Given the description of an element on the screen output the (x, y) to click on. 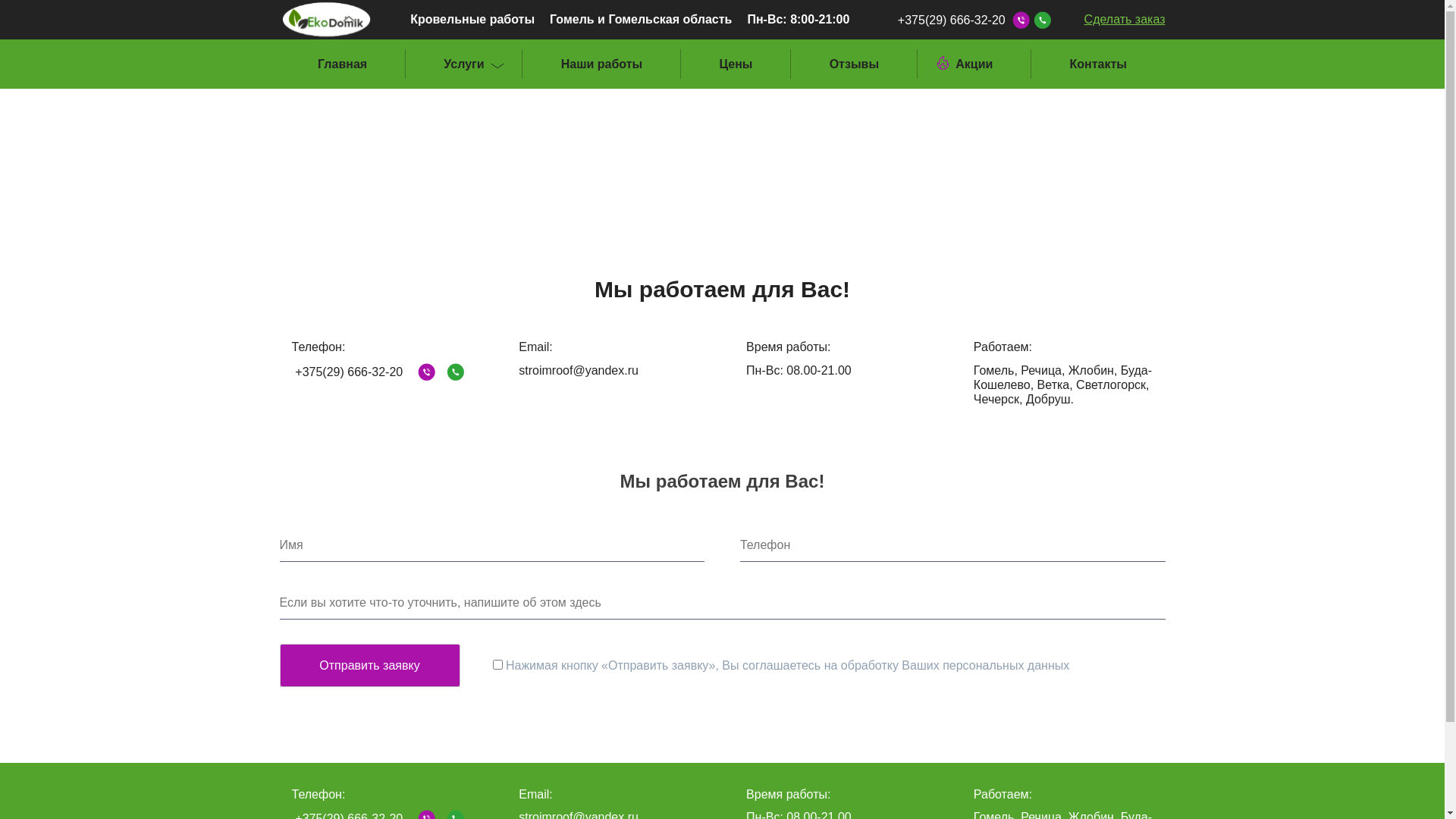
+375(29) 666-32-20 Element type: text (348, 371)
stroimroof@yandex.ru Element type: text (578, 370)
+375(29) 666-32-20 Element type: text (951, 19)
